Given the description of an element on the screen output the (x, y) to click on. 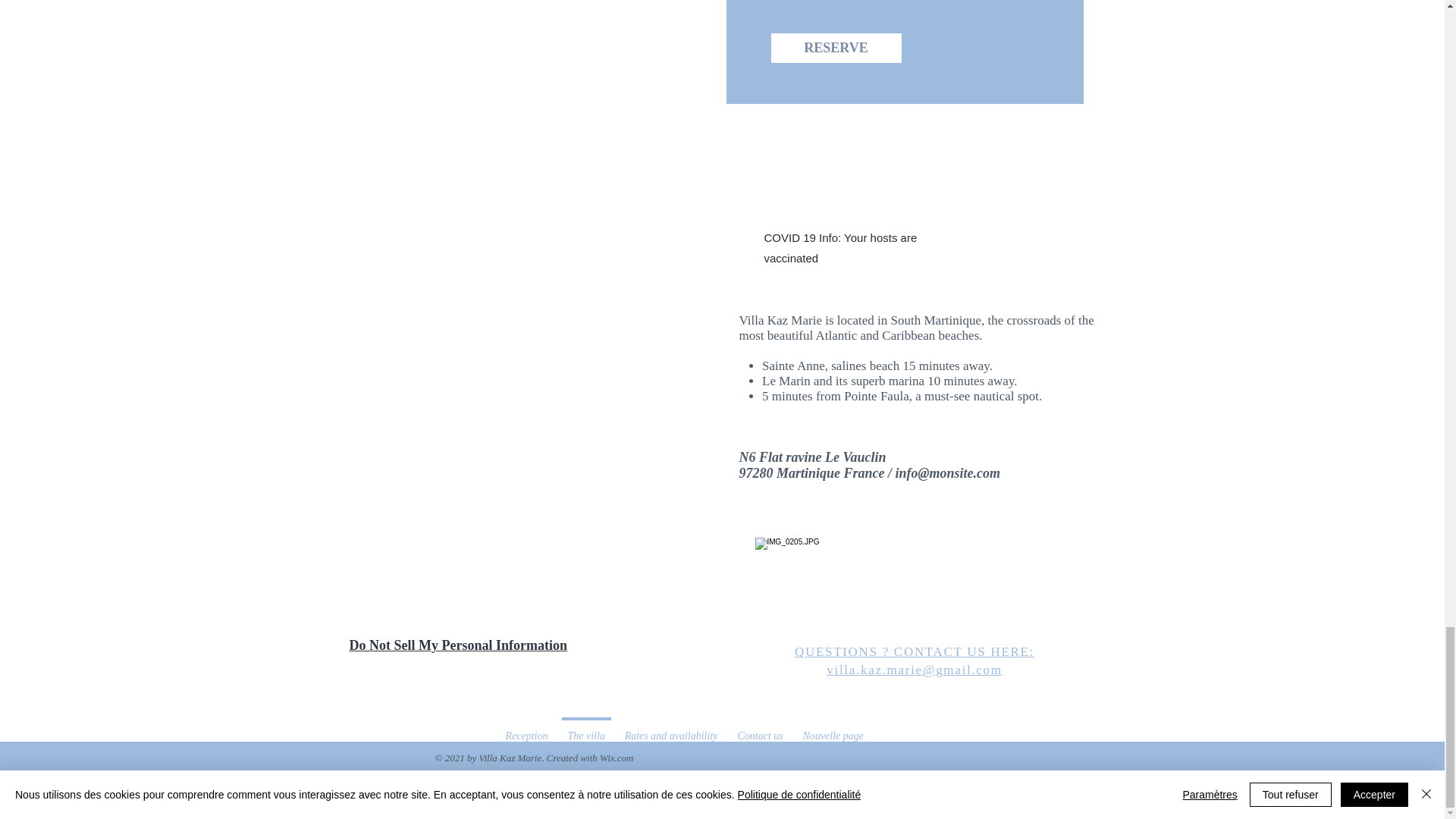
Wix.com (616, 757)
Do Not Sell My Personal Information (457, 645)
Rates and availability (670, 729)
The villa (585, 729)
Contact us (760, 729)
Nouvelle page (833, 729)
Reception (526, 729)
RESERVE (835, 48)
